Given the description of an element on the screen output the (x, y) to click on. 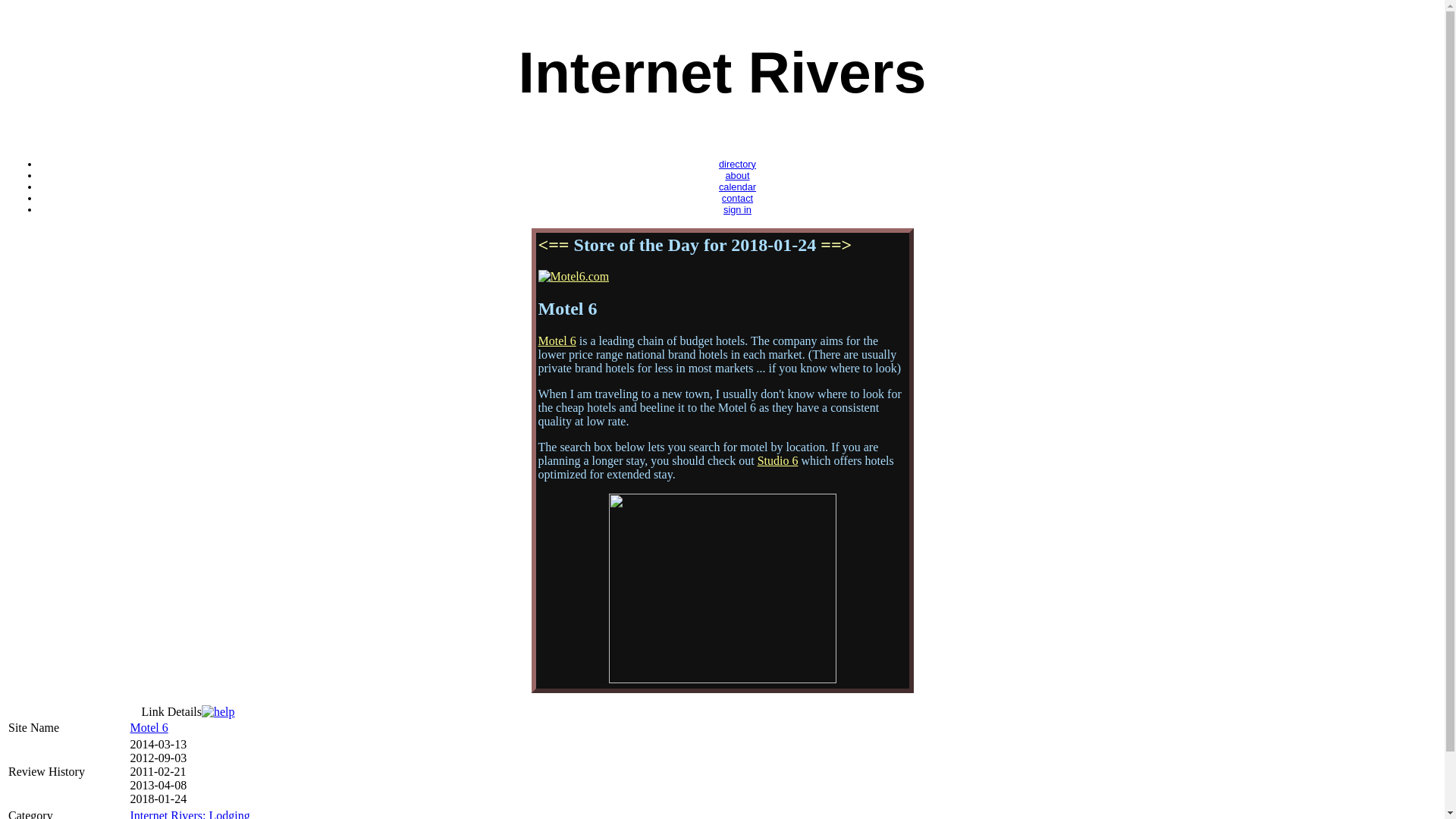
next (836, 244)
directory (737, 163)
Motel 6 (557, 340)
Studio 6 (777, 460)
calendar (737, 186)
Motel 6 (148, 727)
about (737, 174)
Internet Rivers: Lodging (188, 814)
previous (553, 244)
sign in (737, 209)
contact (737, 197)
